Given the description of an element on the screen output the (x, y) to click on. 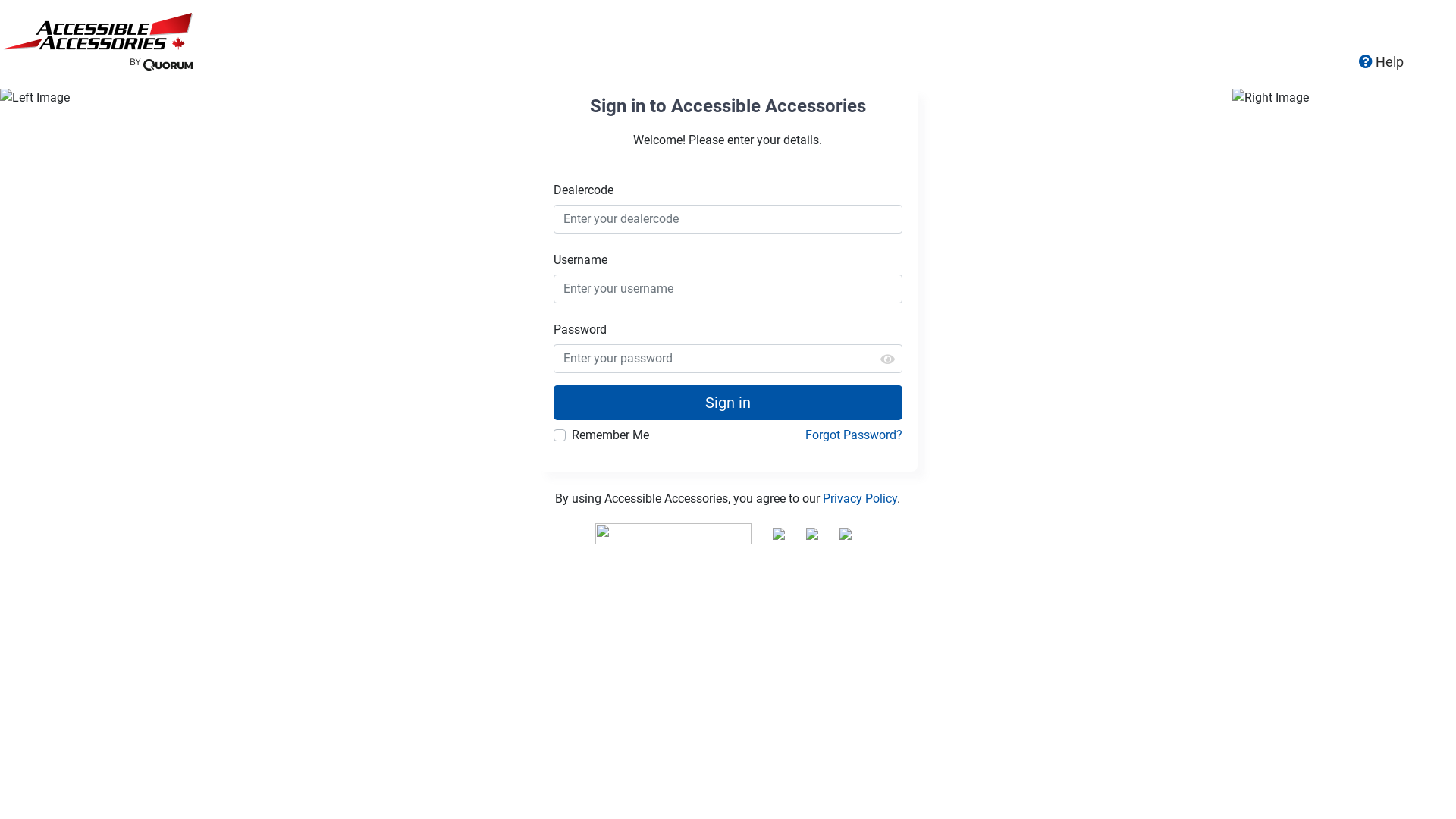
Sign in Element type: text (727, 402)
Privacy Policy Element type: text (859, 498)
Forgot Password? Element type: text (853, 435)
Help Element type: text (1380, 61)
